Given the description of an element on the screen output the (x, y) to click on. 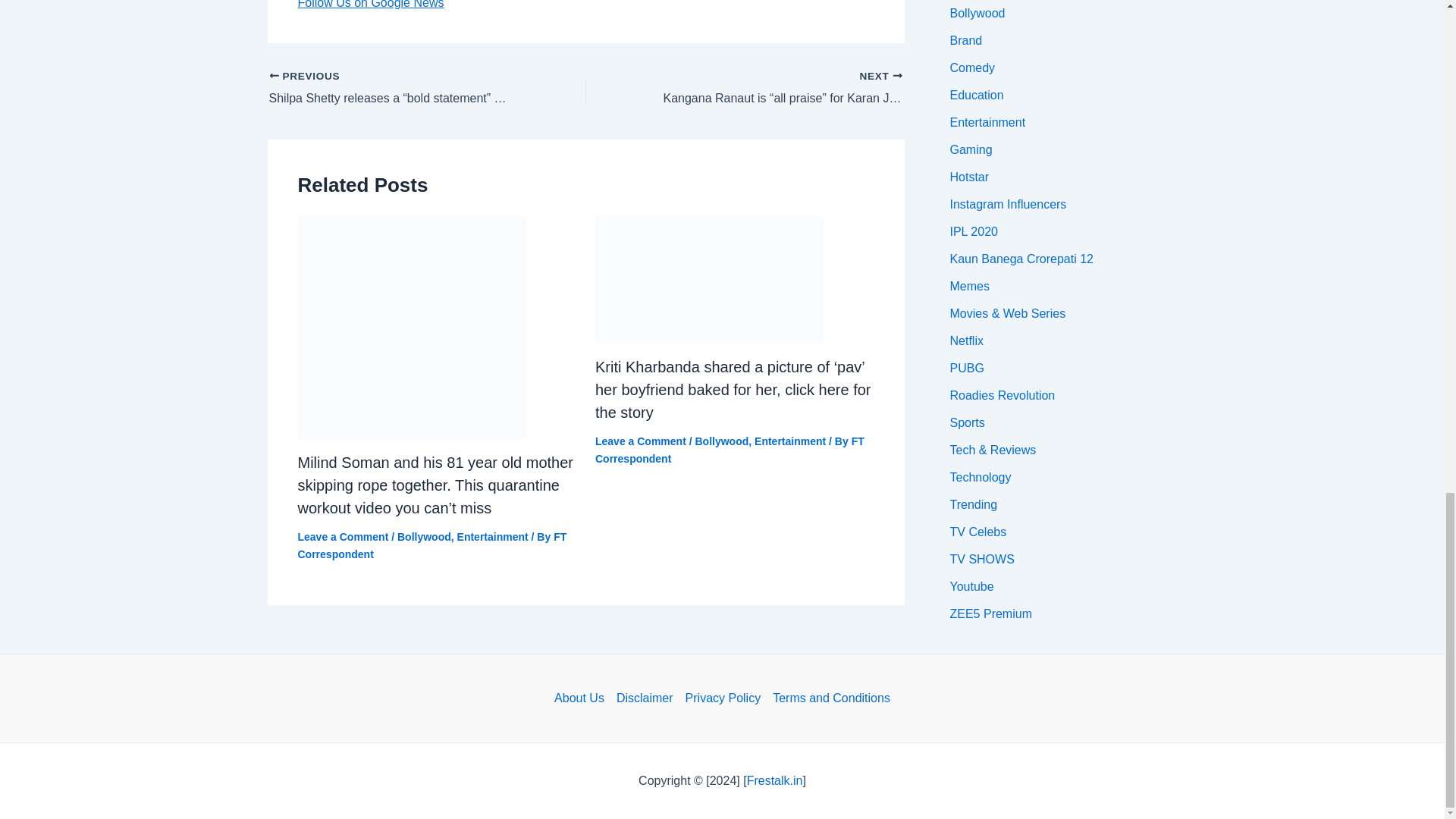
View all posts by FT Correspondent (729, 449)
View all posts by FT Correspondent (431, 544)
Follow Us on Google News (370, 4)
Kangana Ranaut is "all praise" for Karan Johar's Shershaah. (774, 88)
